Given the description of an element on the screen output the (x, y) to click on. 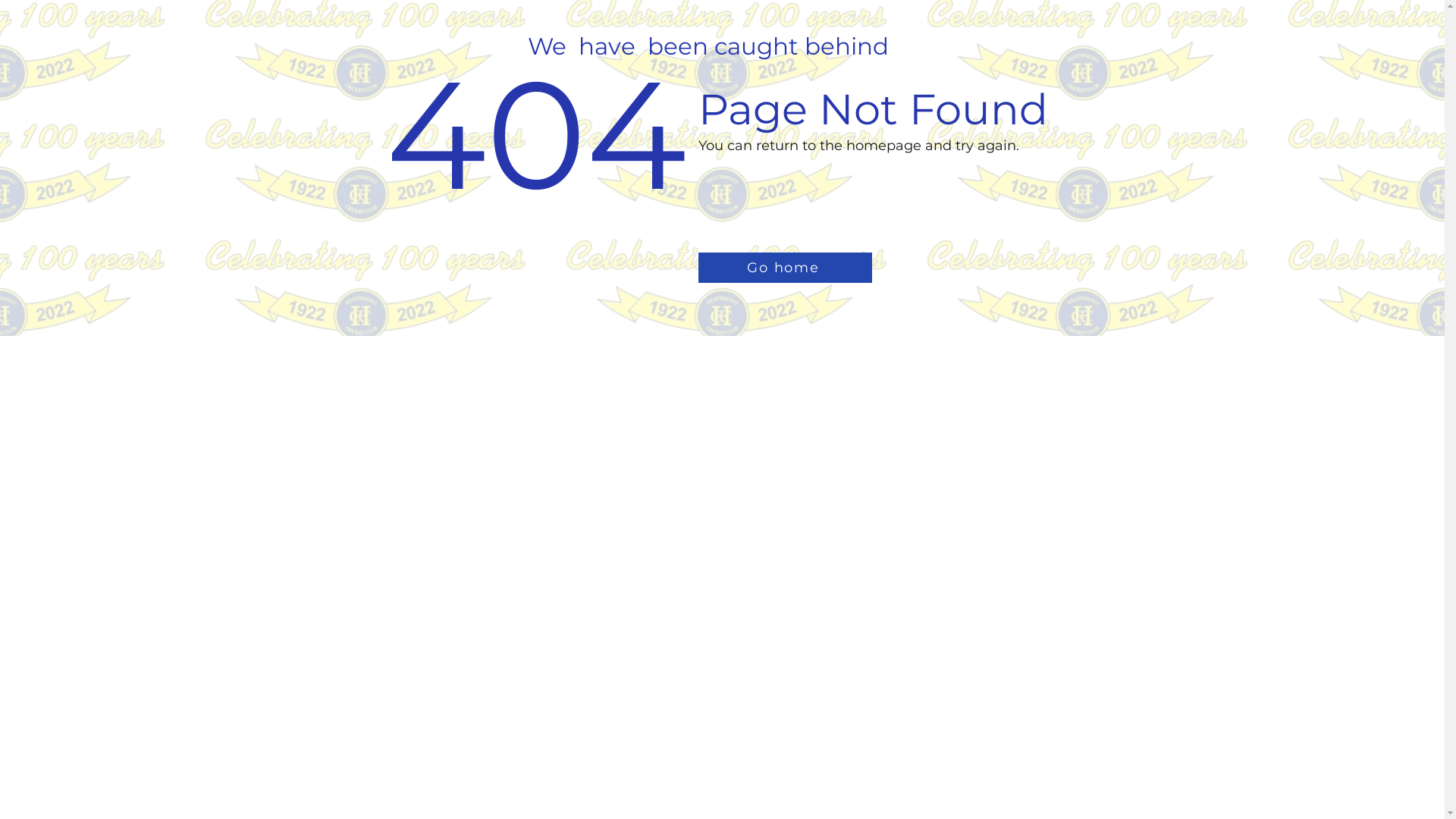
Go home Element type: text (784, 267)
